Given the description of an element on the screen output the (x, y) to click on. 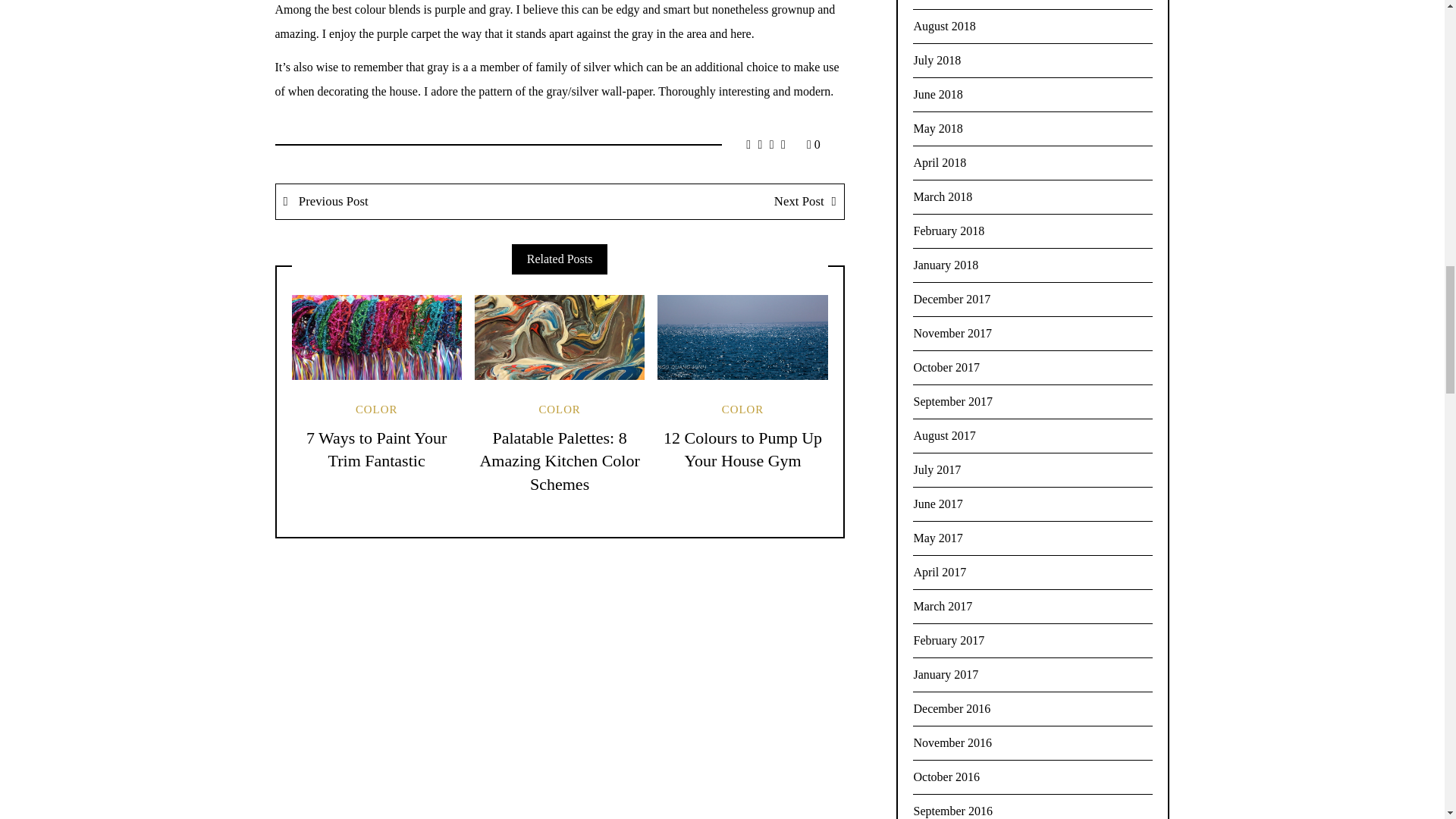
COLOR (742, 409)
7 Ways to Paint Your Trim Fantastic (375, 449)
Next Post (701, 201)
Palatable Palettes: 8 Amazing Kitchen Color Schemes (559, 461)
Palatable Palettes: 8 Amazing Kitchen Color Schemes (559, 461)
Permalink to: "7 Ways to Paint Your Trim Fantastic" (376, 336)
7 Ways to Paint Your Trim Fantastic (375, 449)
COLOR (376, 409)
Previous Post (418, 201)
COLOR (558, 409)
Permalink to: "12 Colours to Pump Up Your House Gym" (742, 336)
12 Colours to Pump Up Your House Gym (742, 449)
12 Colours to Pump Up Your House Gym (742, 449)
0 (813, 144)
